Given the description of an element on the screen output the (x, y) to click on. 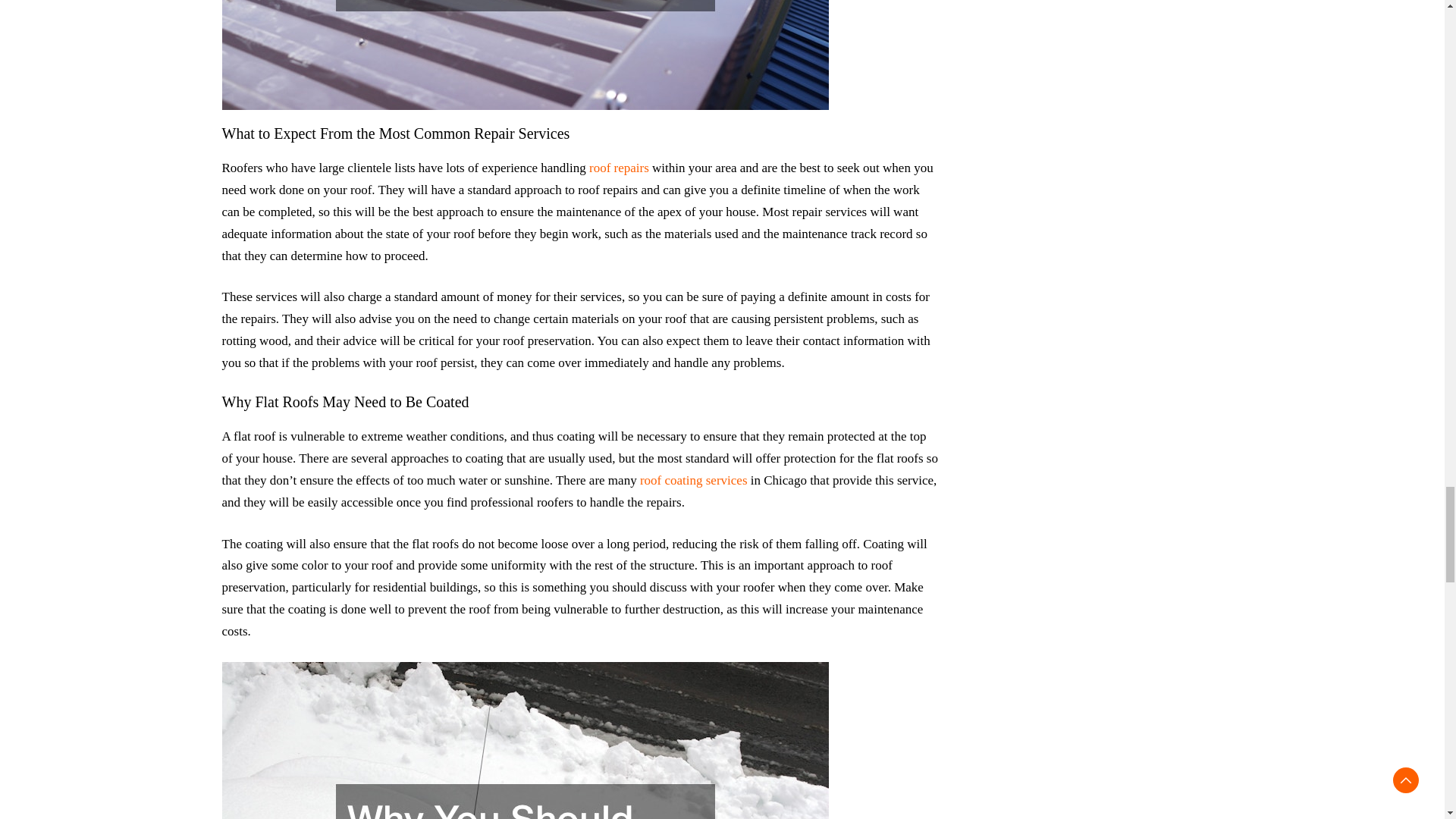
roof repairs (619, 167)
roof coating services (694, 480)
